Given the description of an element on the screen output the (x, y) to click on. 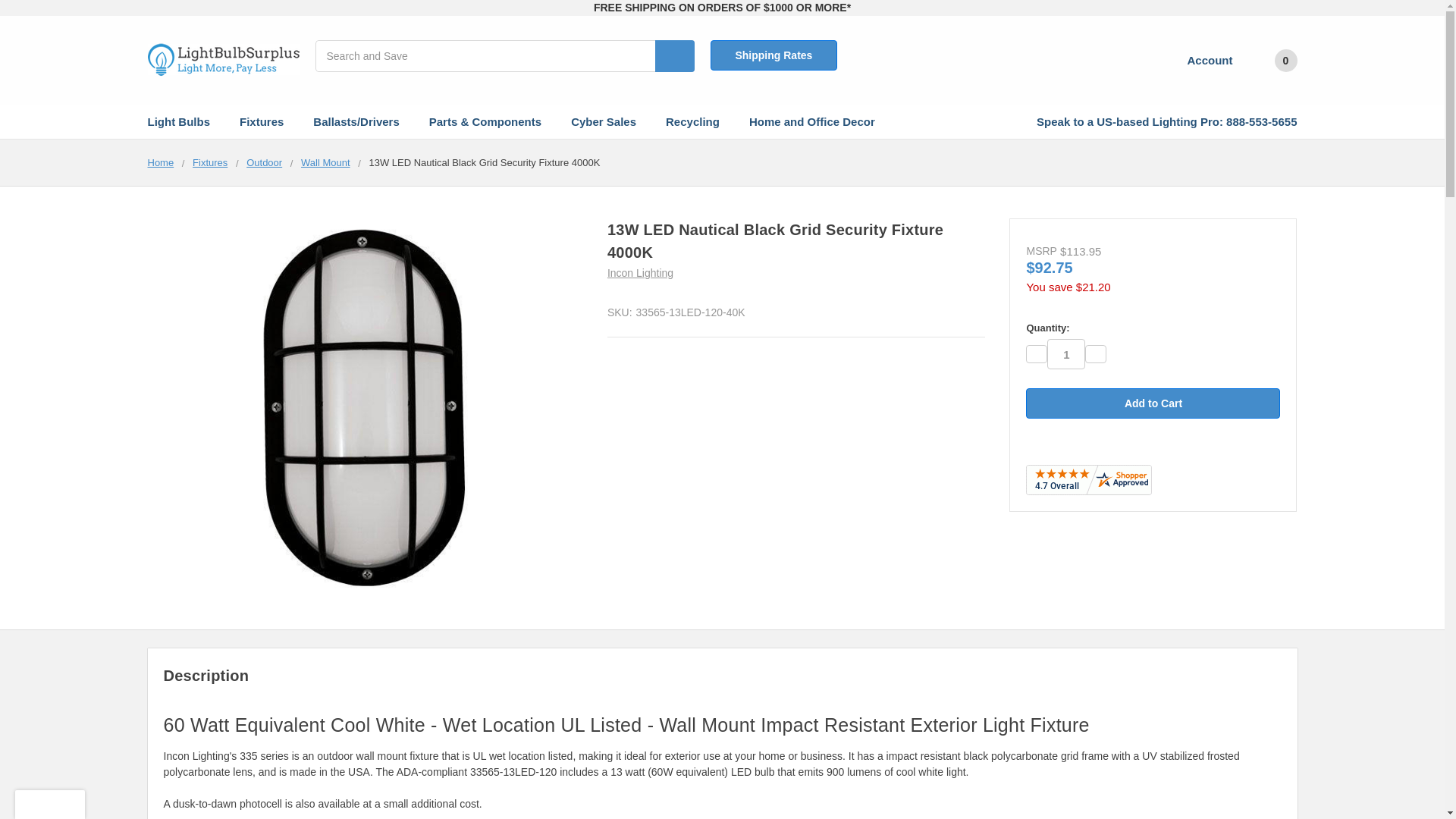
Account (1200, 60)
0 (1273, 60)
Add to Cart (1152, 403)
Facebook (1033, 446)
Light Bulbs (185, 121)
1 (1065, 354)
Twitter (1086, 446)
Print (1059, 446)
TrustedSite Certified (49, 804)
